Given the description of an element on the screen output the (x, y) to click on. 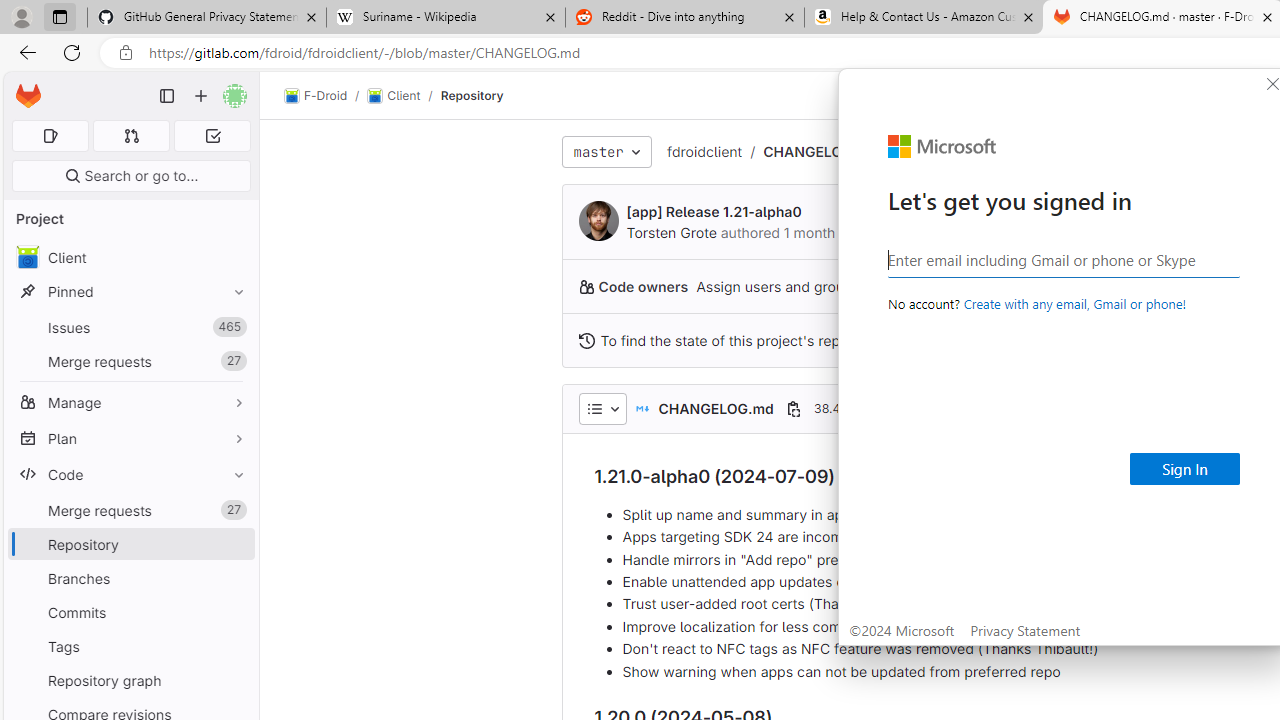
avatar (27, 257)
Client/ (404, 96)
Repository graph (130, 679)
Create with any email, Gmail or phone! (1074, 303)
Sign In (1185, 468)
Branches (130, 578)
Client (394, 96)
avatar Client (130, 257)
Issues 465 (130, 327)
Primary navigation sidebar (167, 96)
Client (130, 257)
Help & Contact Us - Amazon Customer Service (924, 17)
Plan (130, 438)
